Given the description of an element on the screen output the (x, y) to click on. 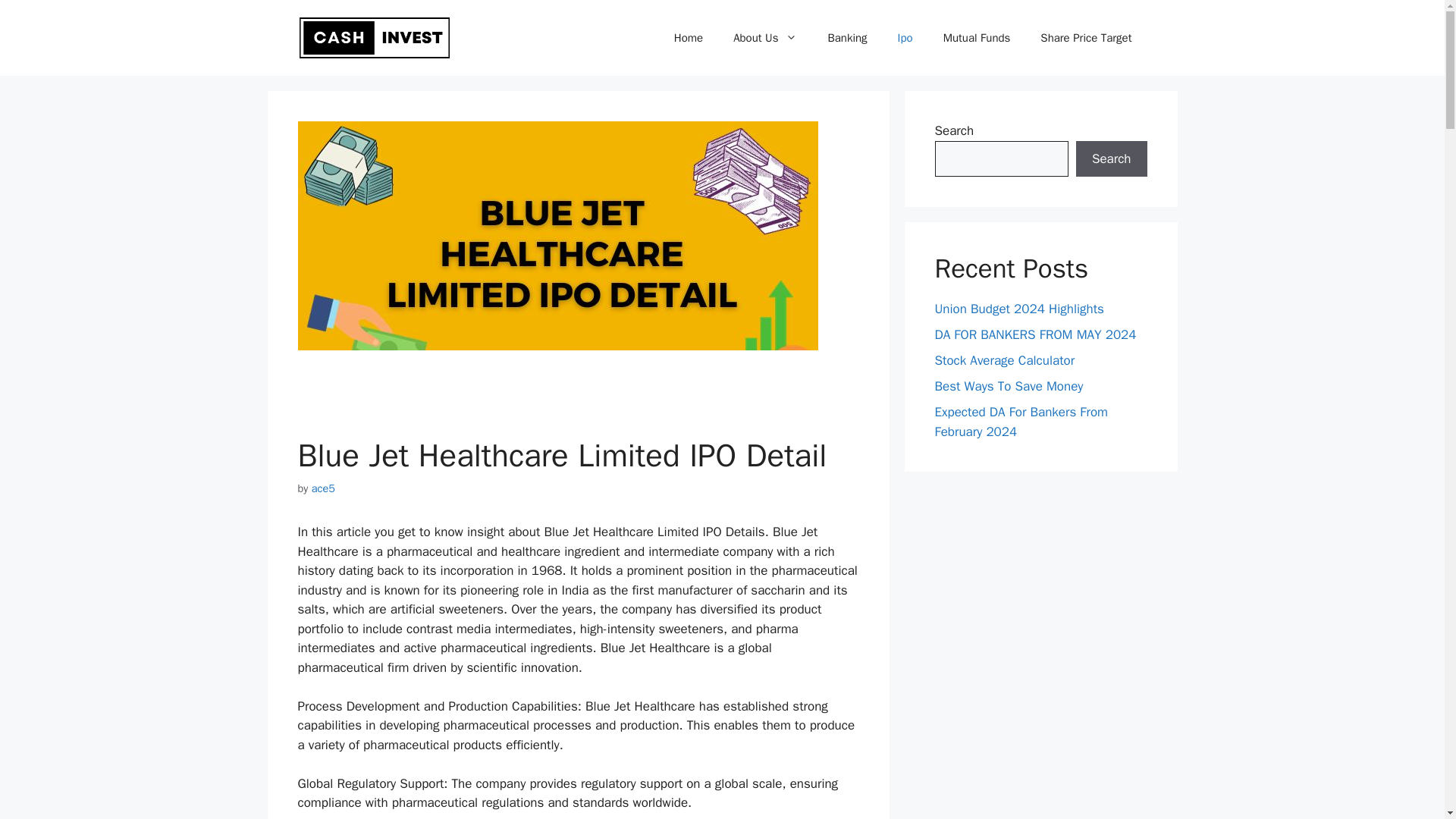
Best Ways To Save Money (1008, 385)
Share Price Target (1086, 37)
Union Budget 2024 Highlights (1018, 308)
ace5 (322, 488)
Home (688, 37)
About Us (764, 37)
Ipo (905, 37)
Stock Average Calculator (1004, 360)
Mutual Funds (977, 37)
View all posts by ace5 (322, 488)
